Given the description of an element on the screen output the (x, y) to click on. 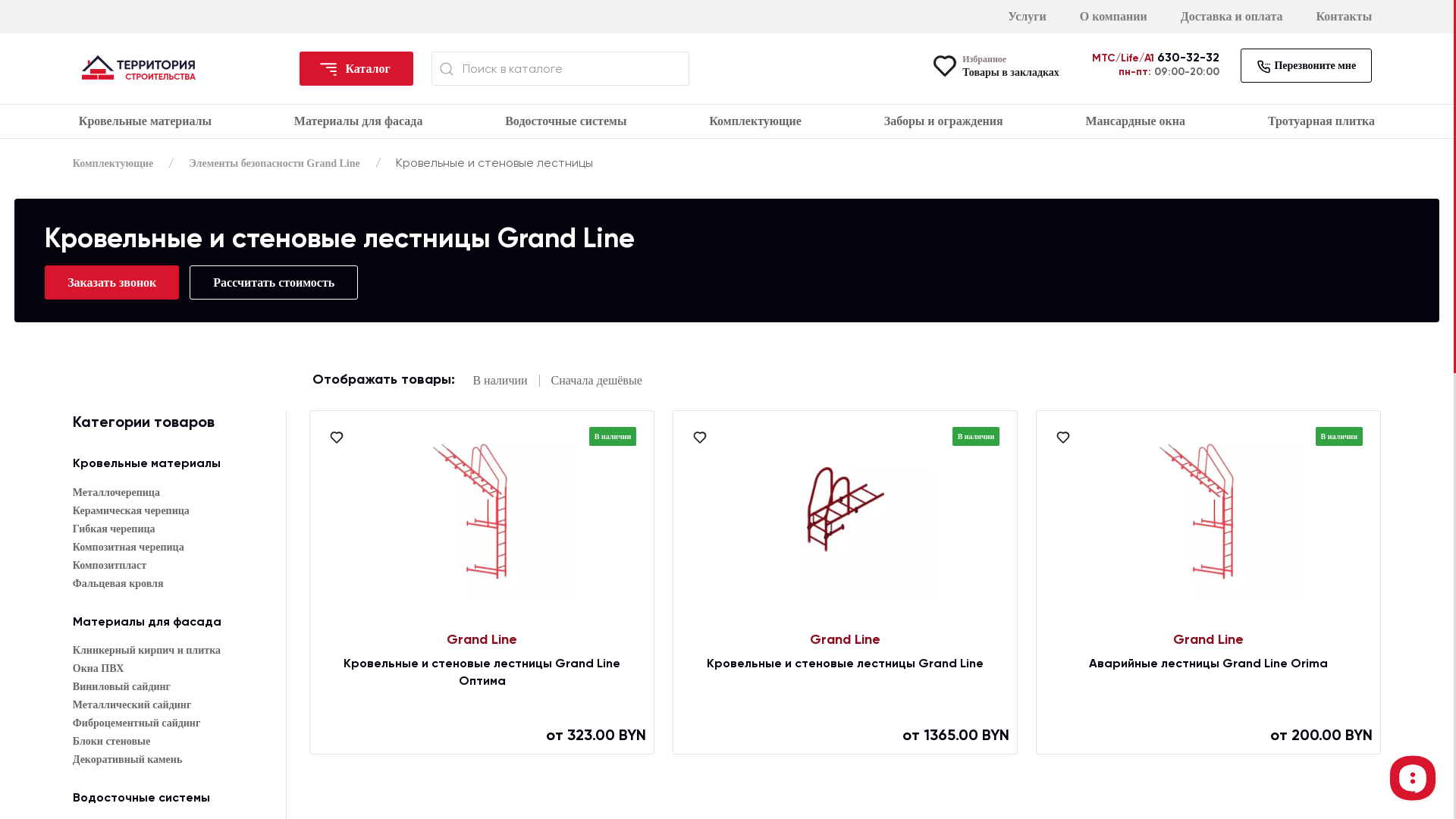
__replain_widget_iframe Element type: hover (1411, 776)
MTC/Life/A1 630-32-32 Element type: text (1155, 56)
